Given the description of an element on the screen output the (x, y) to click on. 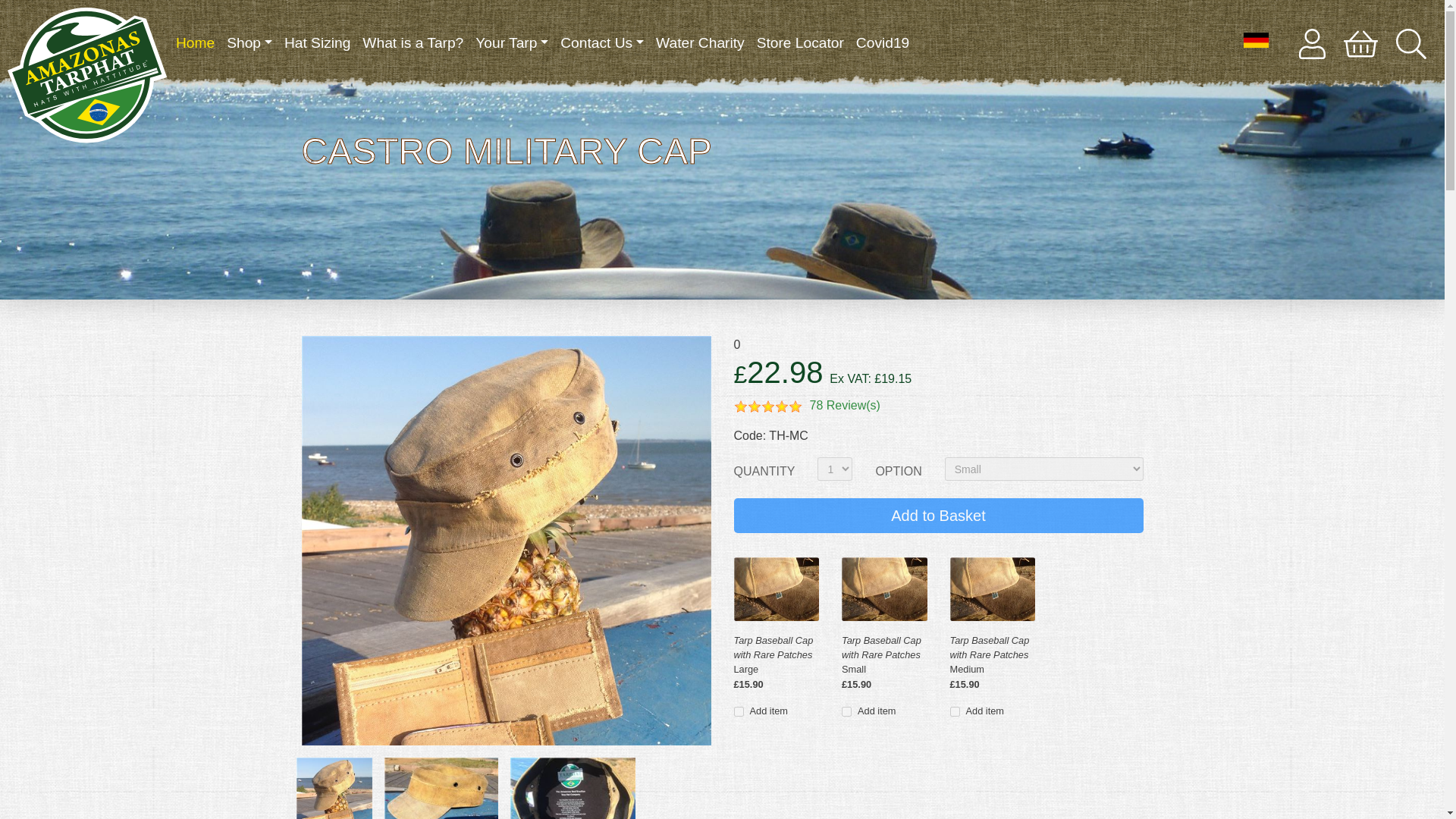
Add to Basket (937, 515)
249 (846, 711)
Your Tarp (511, 43)
What is a Tarp? (412, 43)
10 (954, 711)
Contact Us (601, 43)
Water Charity (700, 43)
133 (738, 711)
Covid19 (882, 43)
Shop (249, 43)
Store Locator (800, 43)
Hat Sizing (317, 43)
